Given the description of an element on the screen output the (x, y) to click on. 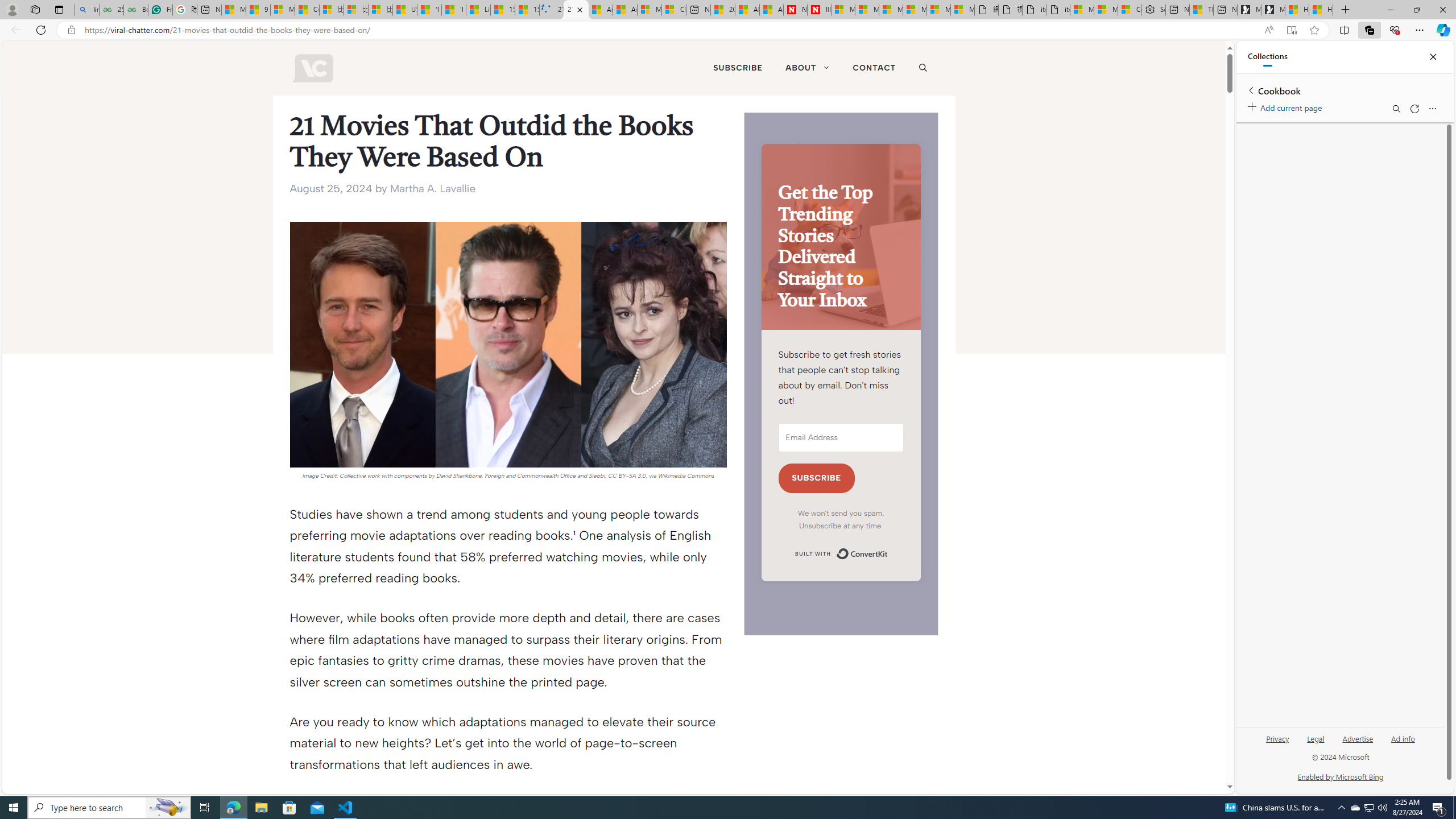
Viral Chatter (311, 68)
Email Address (840, 437)
Ad info (1402, 742)
21 Movies That Outdid the Books They Were Based On (575, 9)
Microsoft Start Gaming (1273, 9)
USA TODAY - MSN (404, 9)
